Given the description of an element on the screen output the (x, y) to click on. 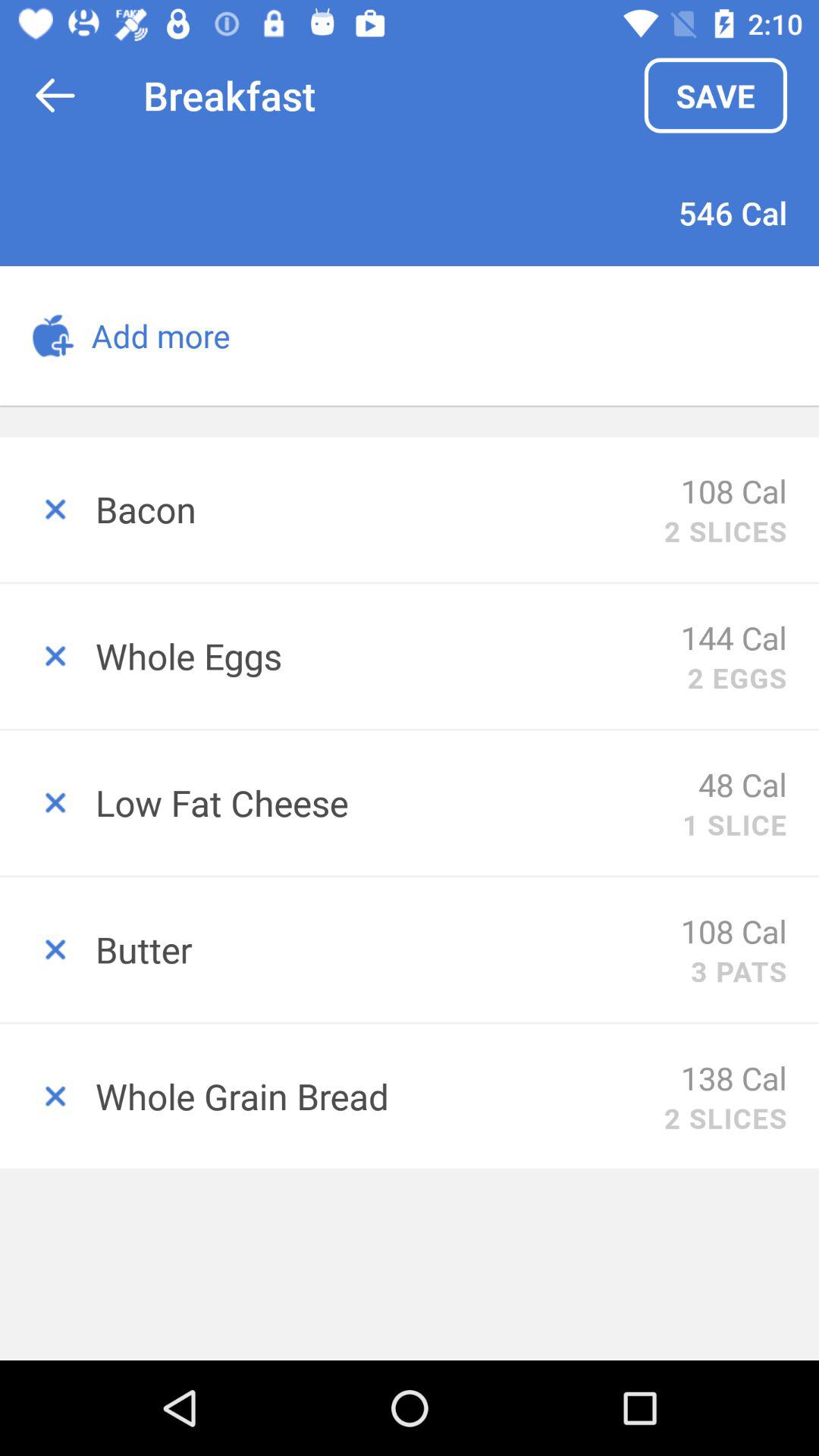
click the item next to low fat cheese (742, 783)
